Given the description of an element on the screen output the (x, y) to click on. 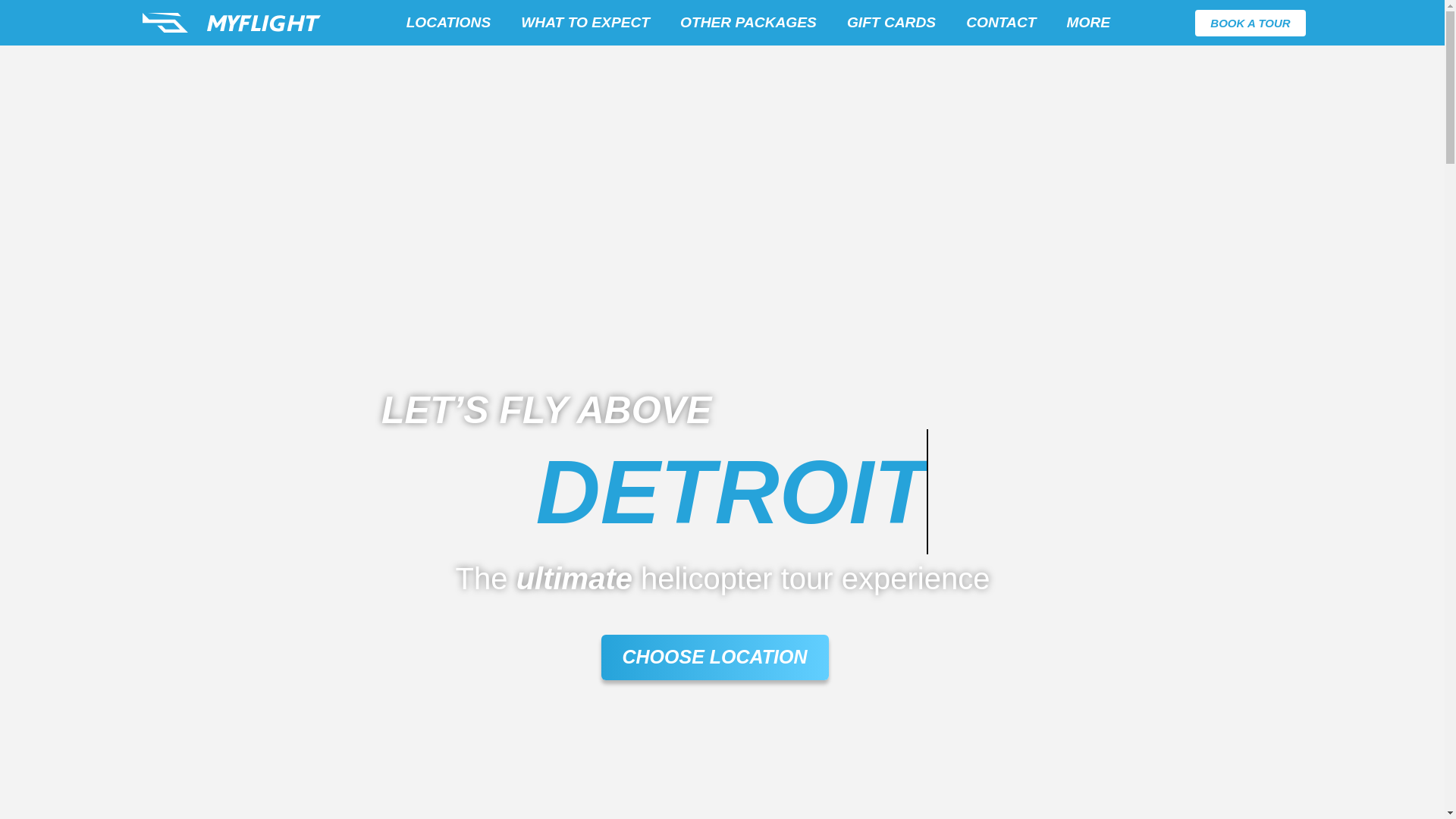
WHAT TO EXPECT (585, 22)
OTHER PACKAGES (748, 22)
LOCATIONS (448, 22)
